Given the description of an element on the screen output the (x, y) to click on. 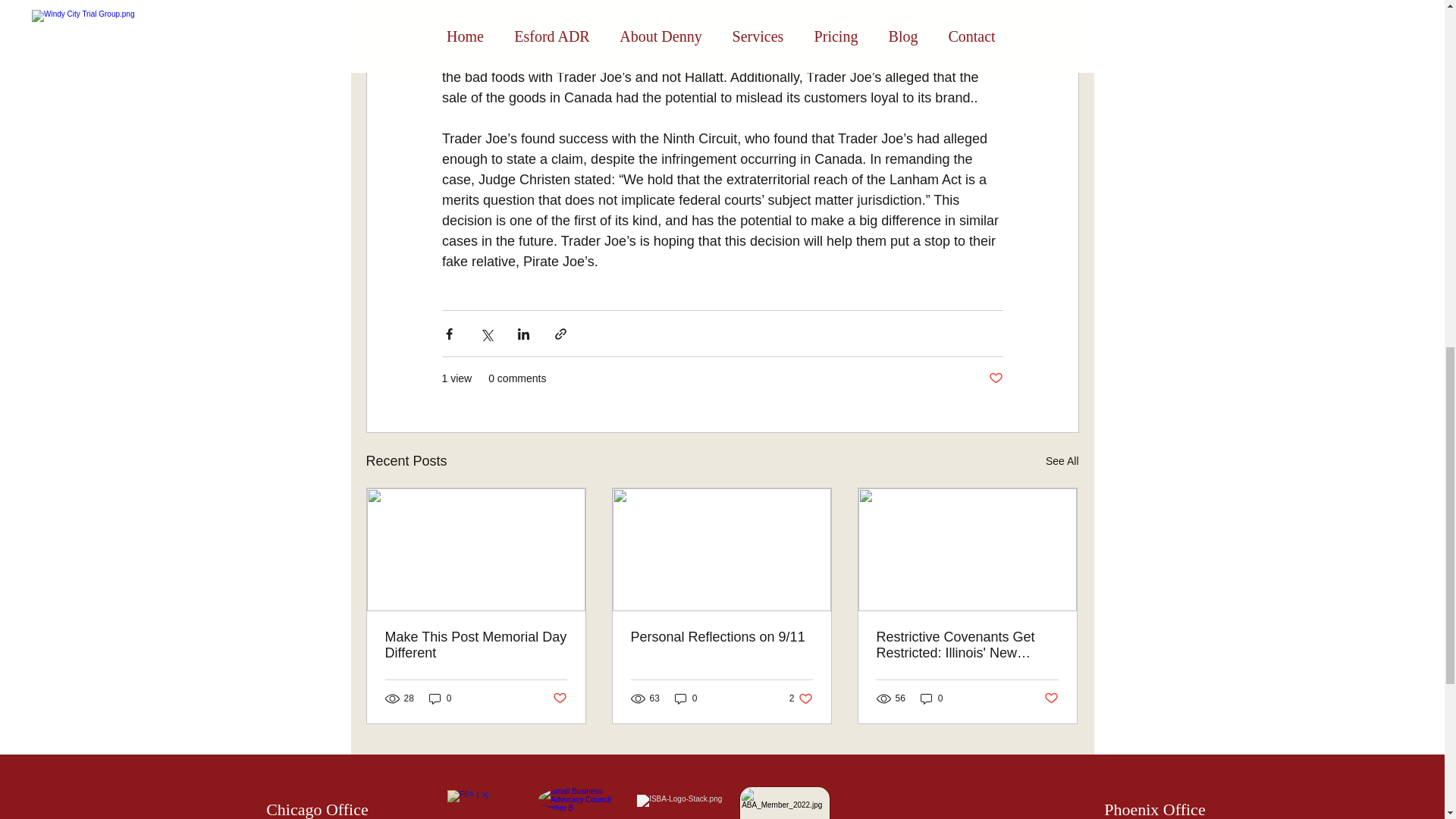
0 (800, 698)
0 (931, 698)
0 (685, 698)
Chicago Office (440, 698)
See All (317, 809)
Make This Post Memorial Day Different (1061, 461)
Post not marked as liked (476, 644)
Post not marked as liked (1050, 697)
